Given the description of an element on the screen output the (x, y) to click on. 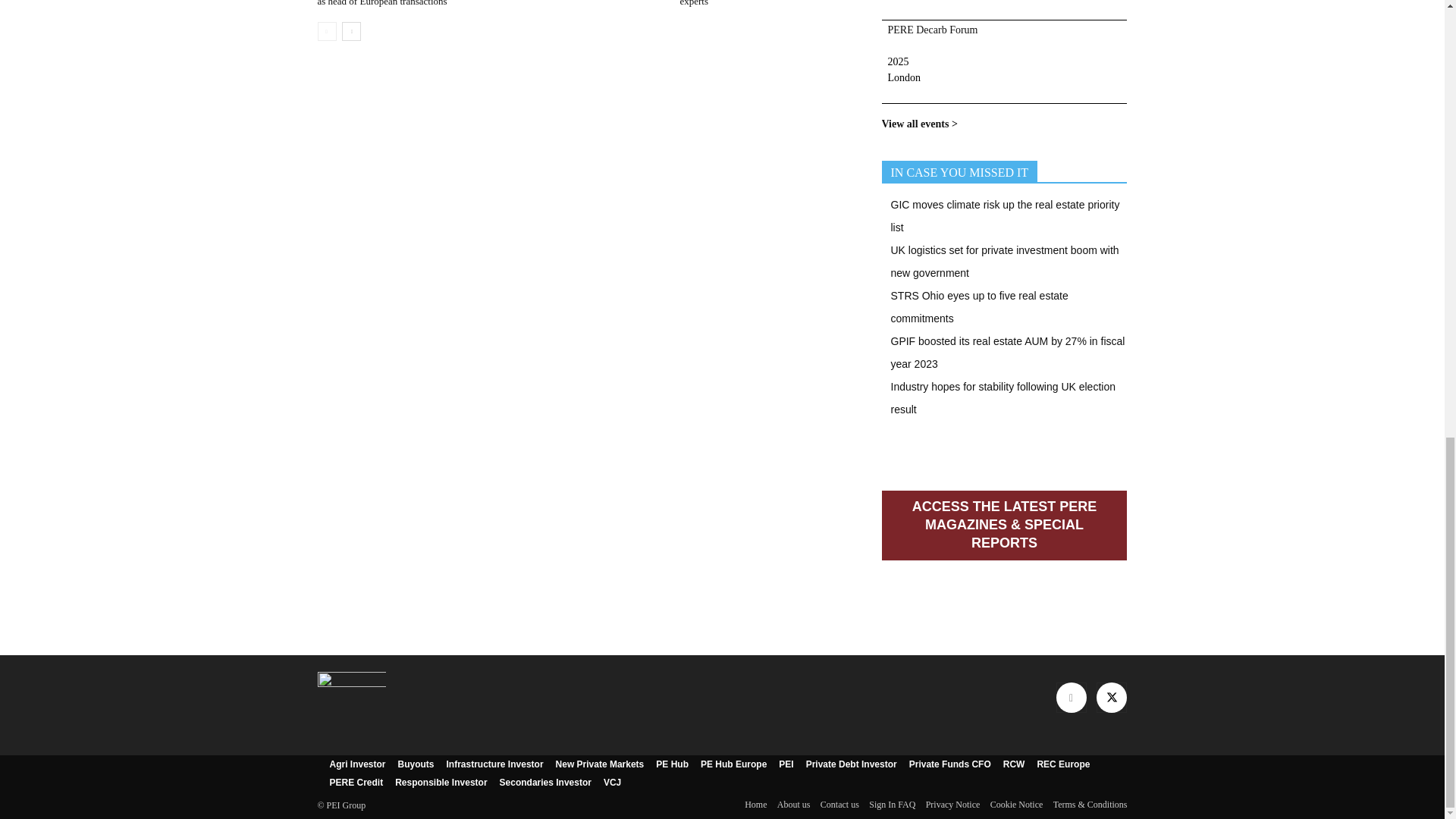
Twitter (1111, 697)
Linkedin (1071, 697)
On the minds of residential investing experts (752, 3)
